Given the description of an element on the screen output the (x, y) to click on. 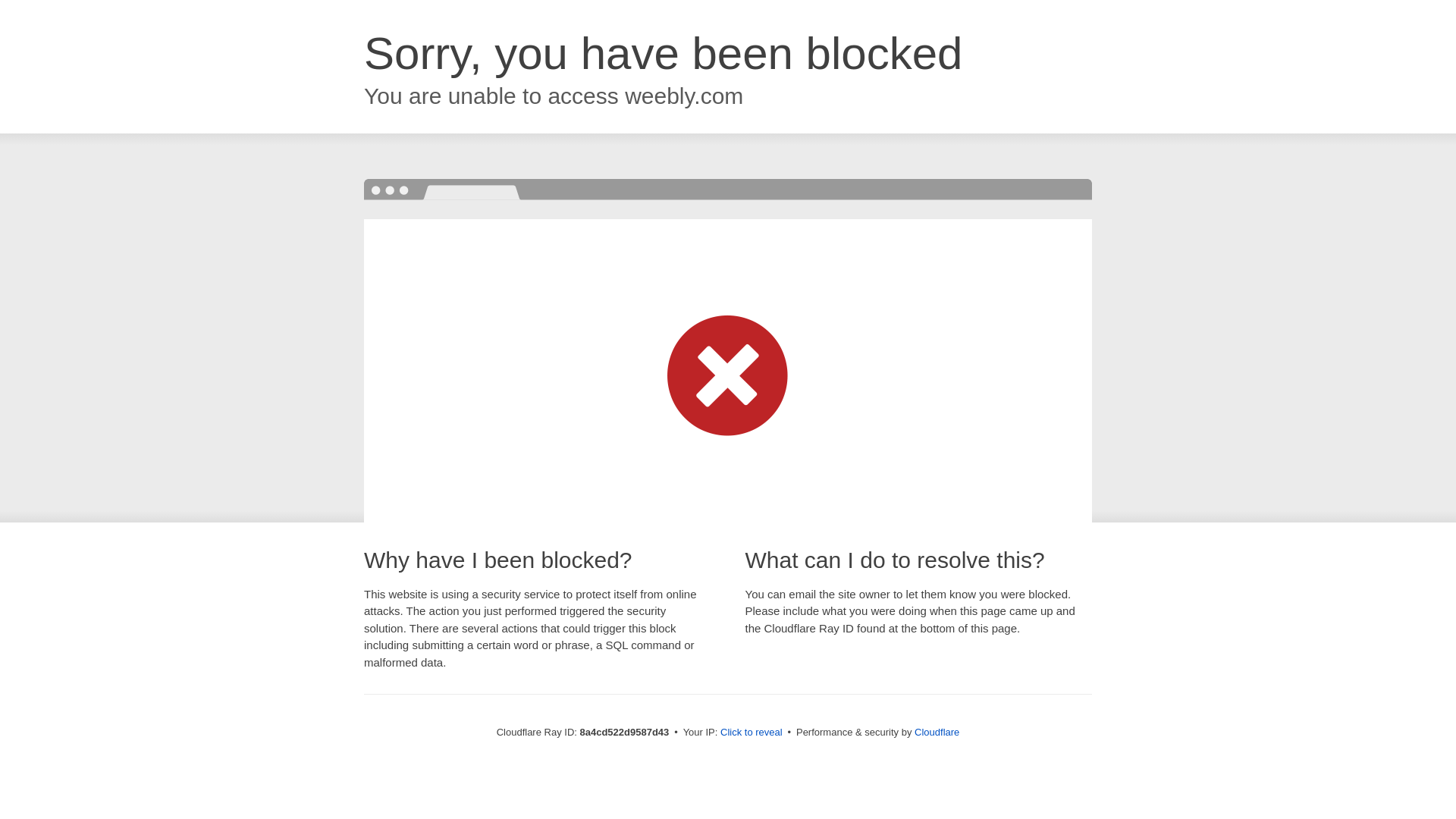
Click to reveal (751, 732)
Cloudflare (936, 731)
